Given the description of an element on the screen output the (x, y) to click on. 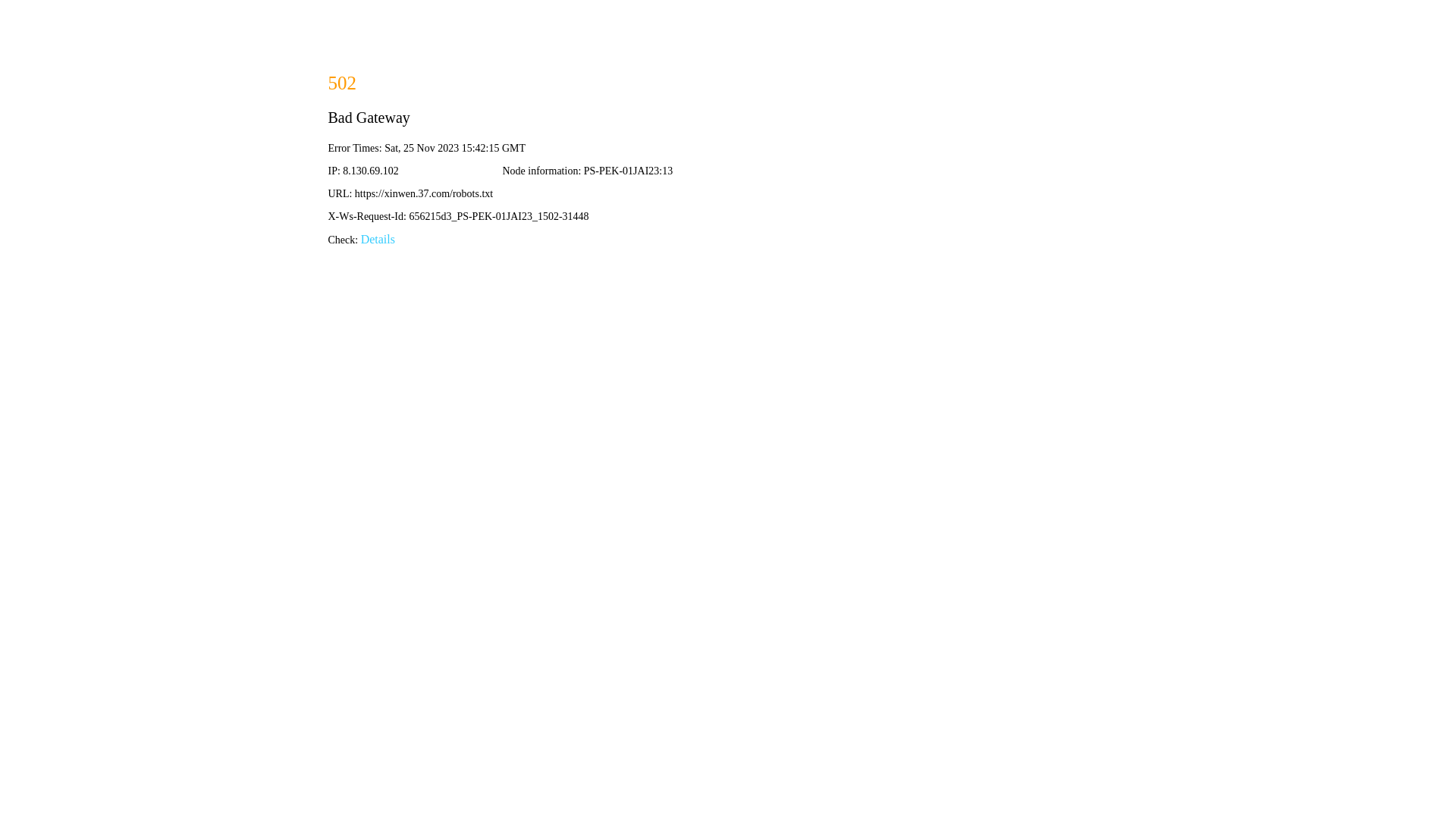
Details Element type: text (377, 238)
